Given the description of an element on the screen output the (x, y) to click on. 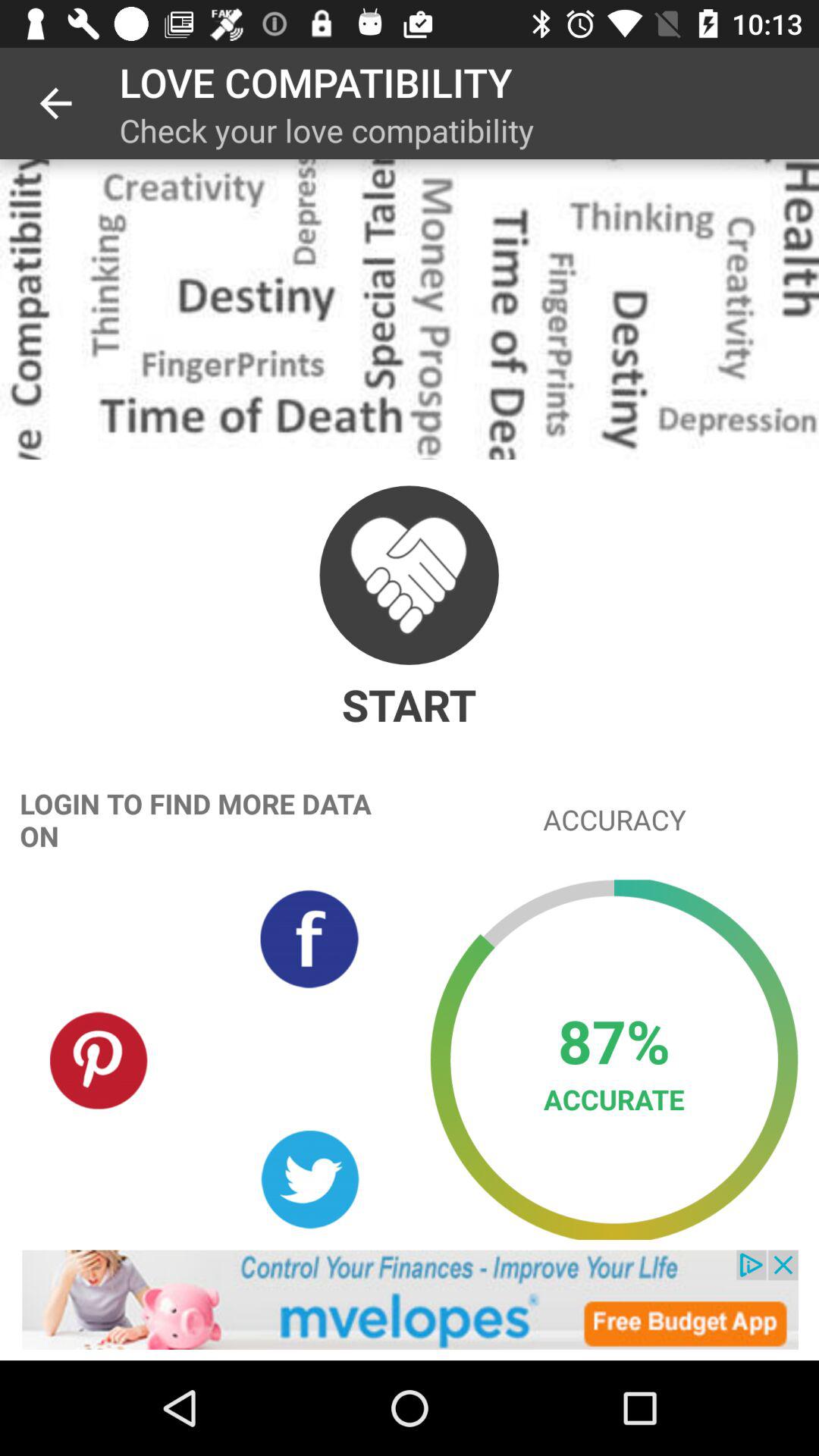
go to pinterest login (99, 1059)
